Given the description of an element on the screen output the (x, y) to click on. 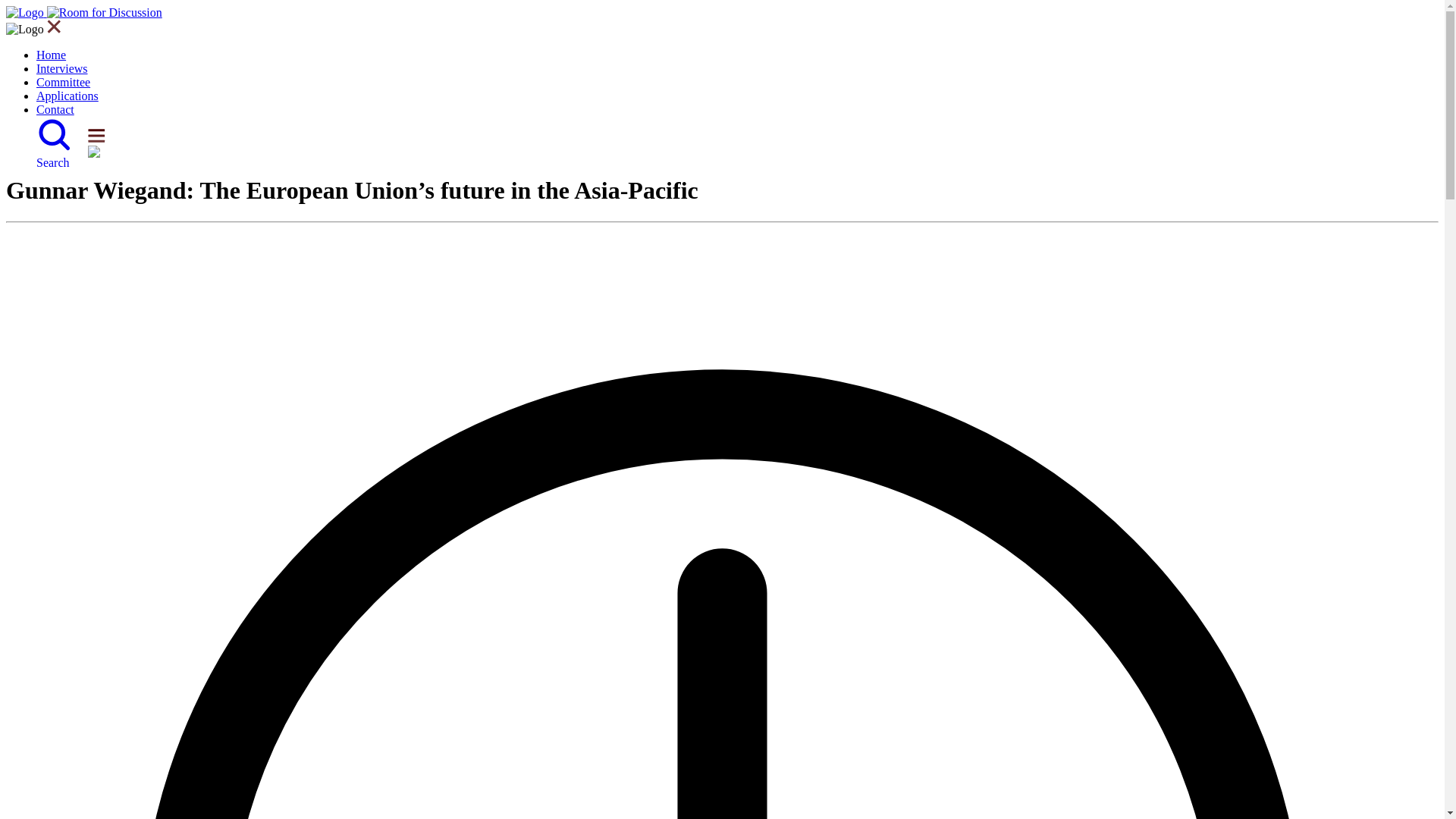
Contact (55, 109)
Interviews (61, 68)
Home (50, 54)
Committee (63, 82)
Applications (67, 95)
